Given the description of an element on the screen output the (x, y) to click on. 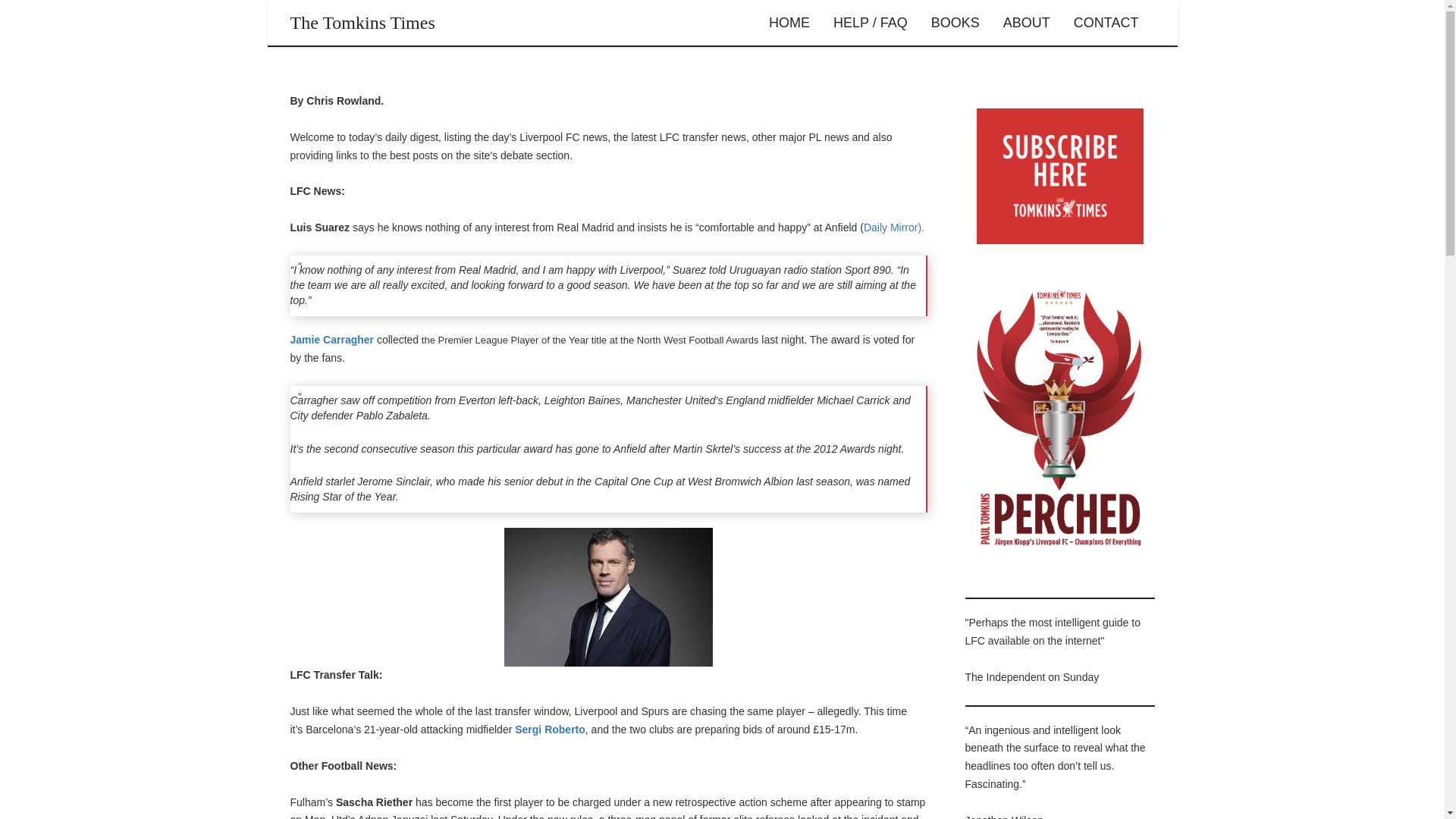
BOOKS (955, 22)
HOME (789, 22)
The Tomkins Times (361, 22)
CONTACT (1106, 22)
Sergi Roberto (550, 729)
ABOUT (1026, 22)
Jamie Carragher (331, 339)
